Given the description of an element on the screen output the (x, y) to click on. 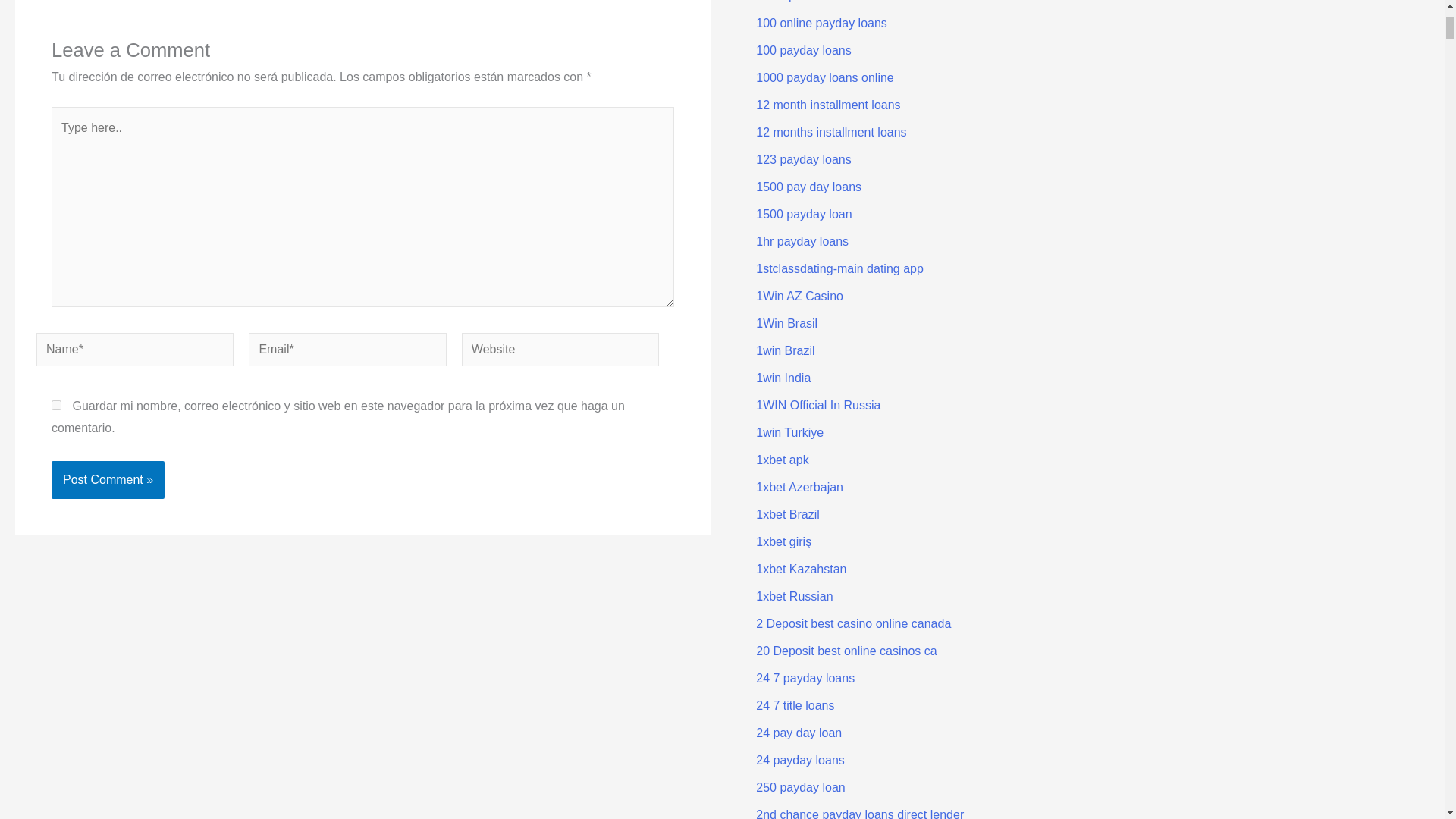
yes (55, 405)
